Given the description of an element on the screen output the (x, y) to click on. 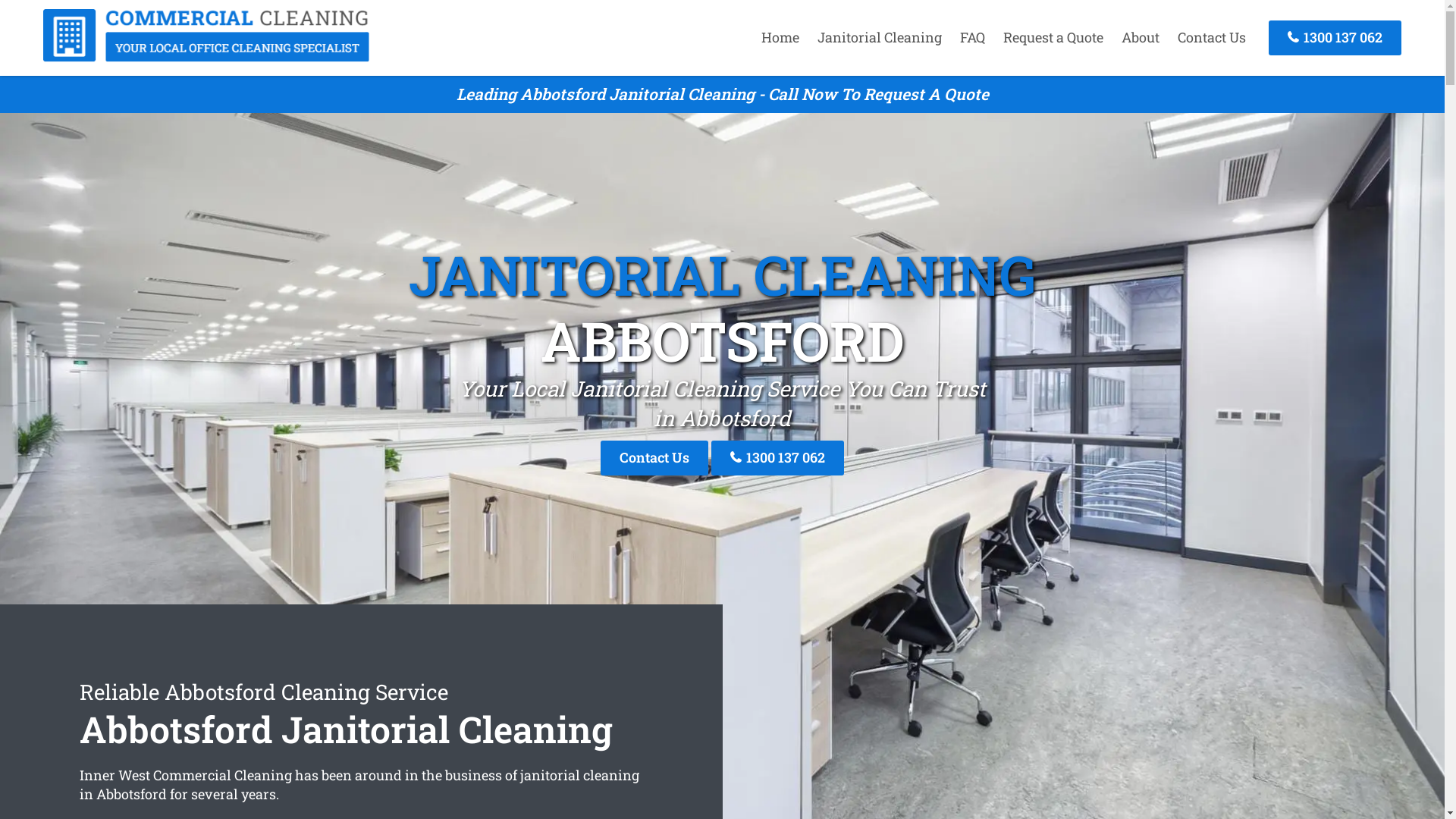
1300 137 062 Element type: text (777, 457)
Commercial Cleaning Element type: hover (206, 56)
Request a Quote Element type: text (1052, 37)
1300 137 062 Element type: text (1334, 37)
Contact Us Element type: text (1211, 37)
Contact Us Element type: text (654, 457)
Janitorial Cleaning Element type: text (879, 37)
About Element type: text (1140, 37)
Home Element type: text (779, 37)
FAQ Element type: text (972, 37)
